Given the description of an element on the screen output the (x, y) to click on. 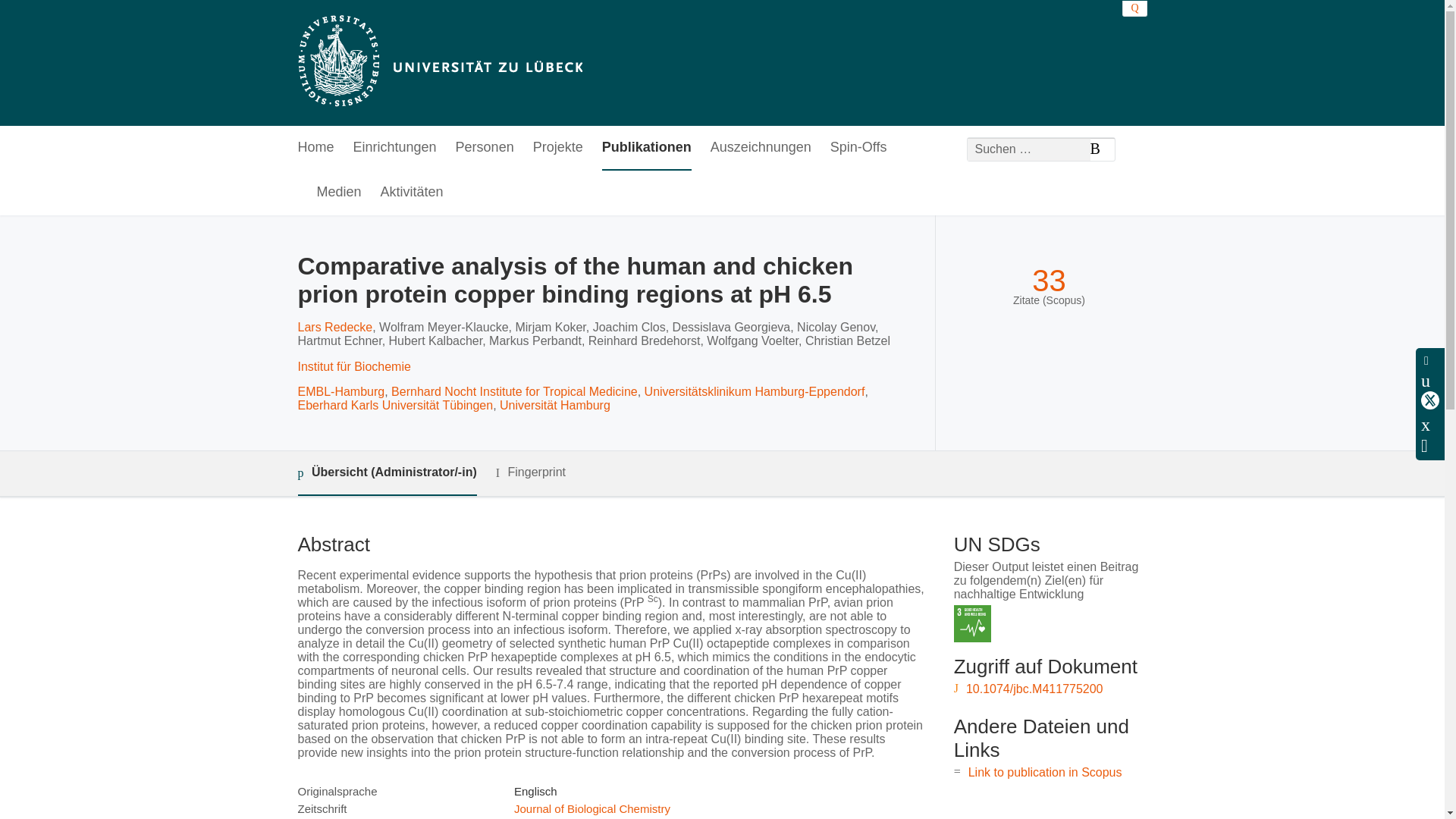
Publikationen (646, 148)
Auszeichnungen (760, 148)
Lars Redecke (334, 327)
Fingerprint (531, 472)
33 (1048, 280)
Bernhard Nocht Institute for Tropical Medicine (514, 391)
Spin-Offs (857, 148)
Einrichtungen (394, 148)
Journal of Biological Chemistry (591, 808)
Personen (484, 148)
Projekte (557, 148)
Medien (339, 192)
Link to publication in Scopus (1045, 771)
EMBL-Hamburg (340, 391)
